Given the description of an element on the screen output the (x, y) to click on. 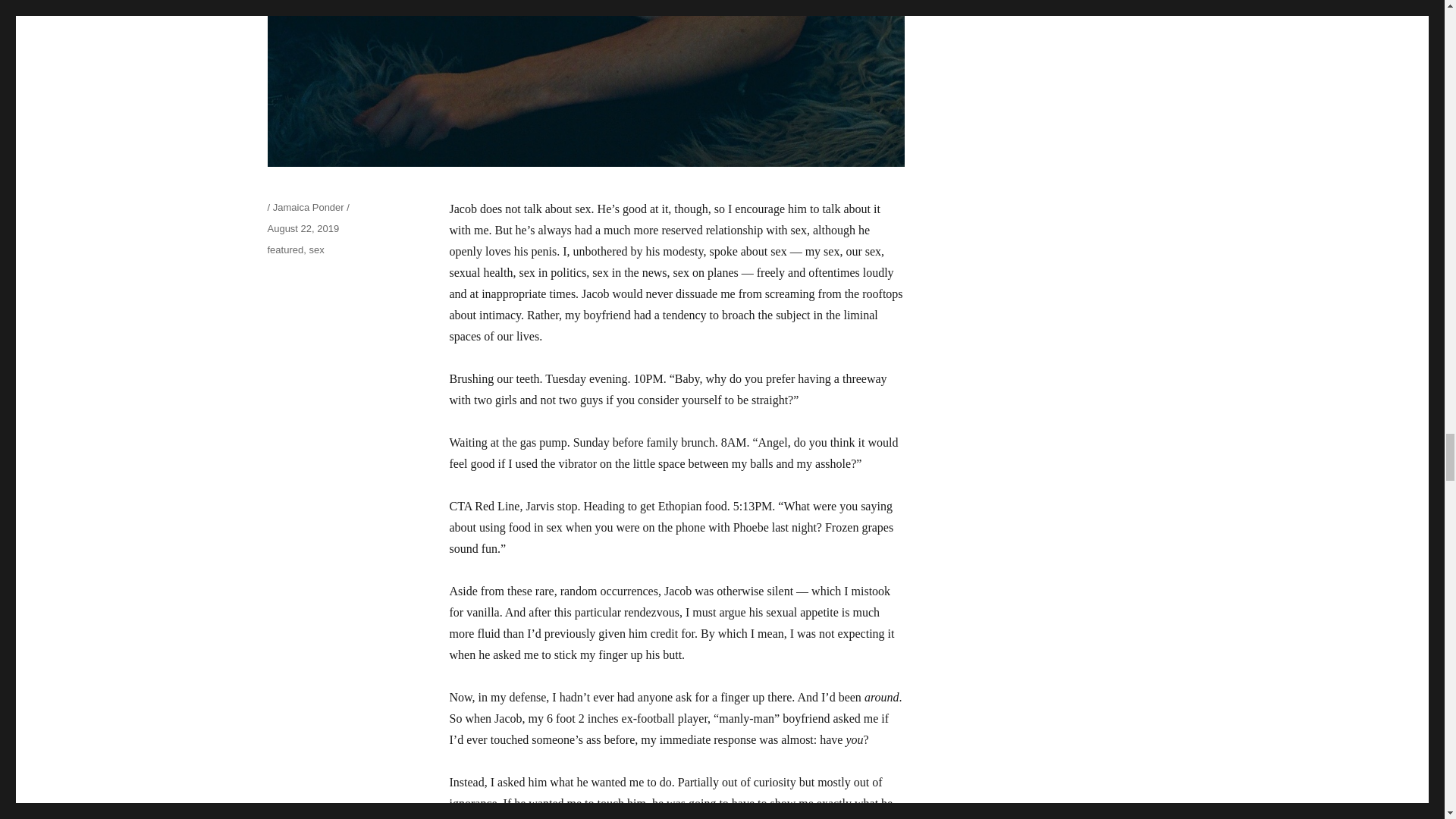
featured (284, 249)
August 22, 2019 (302, 228)
sex (315, 249)
